Given the description of an element on the screen output the (x, y) to click on. 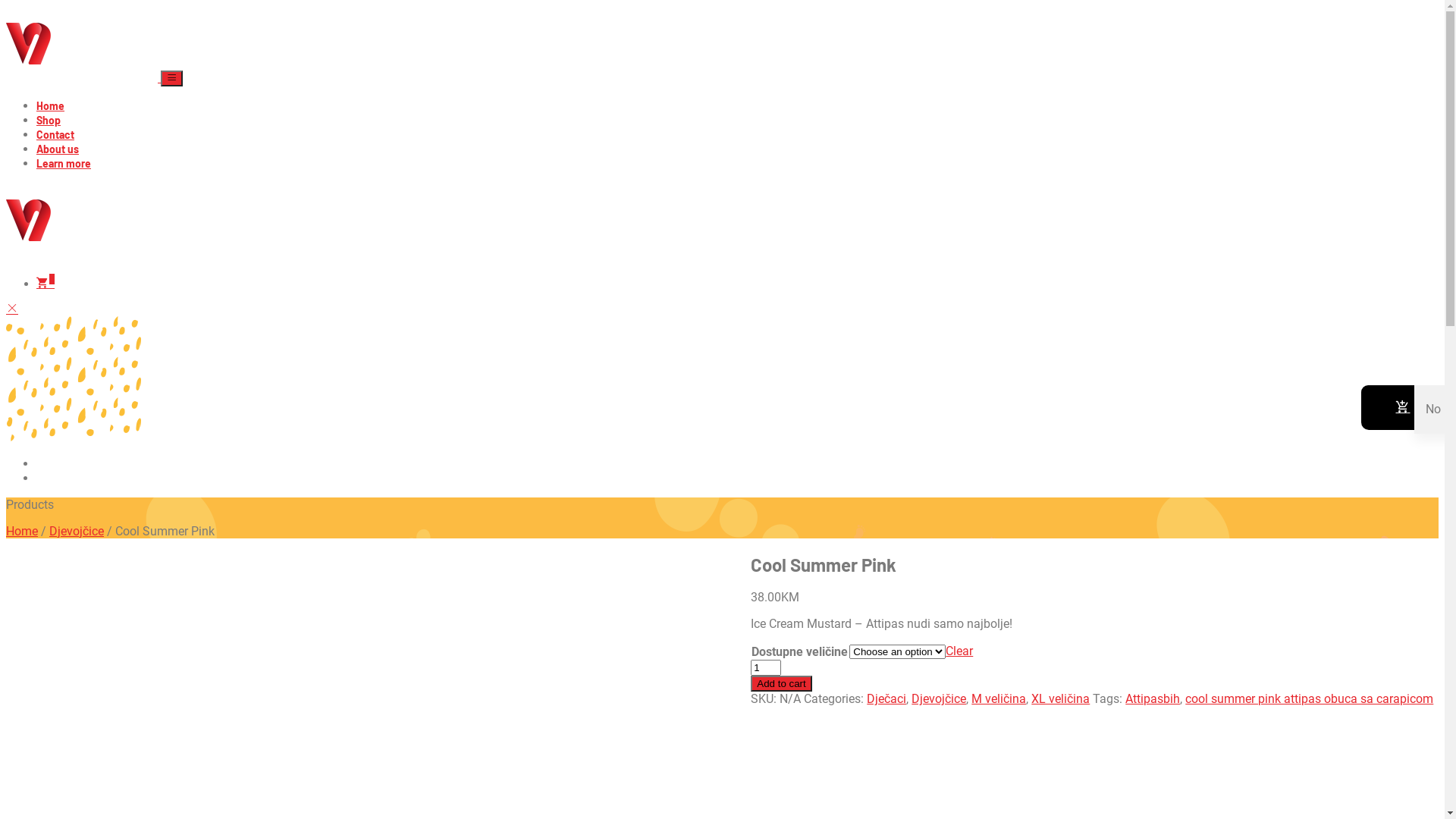
Clear Element type: text (958, 650)
Contact Element type: text (55, 134)
0 Element type: text (45, 282)
Home Element type: text (50, 105)
Learn more Element type: text (63, 162)
Shop Element type: text (48, 119)
Add to cart Element type: text (780, 683)
Home Element type: text (21, 531)
Attipasbih Element type: text (1152, 698)
About us Element type: text (57, 148)
cool summer pink attipas obuca sa carapicom Element type: text (1309, 698)
